Given the description of an element on the screen output the (x, y) to click on. 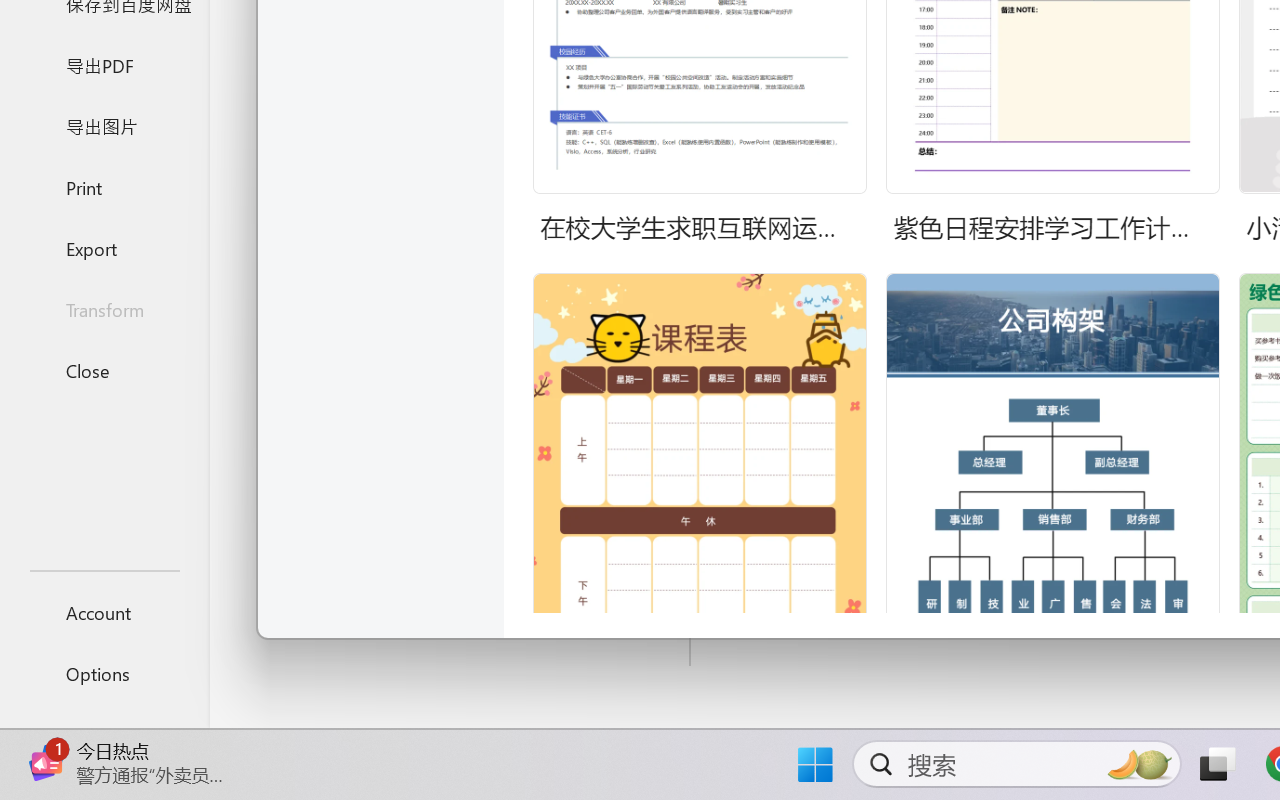
Transform (104, 309)
Options (104, 673)
